Given the description of an element on the screen output the (x, y) to click on. 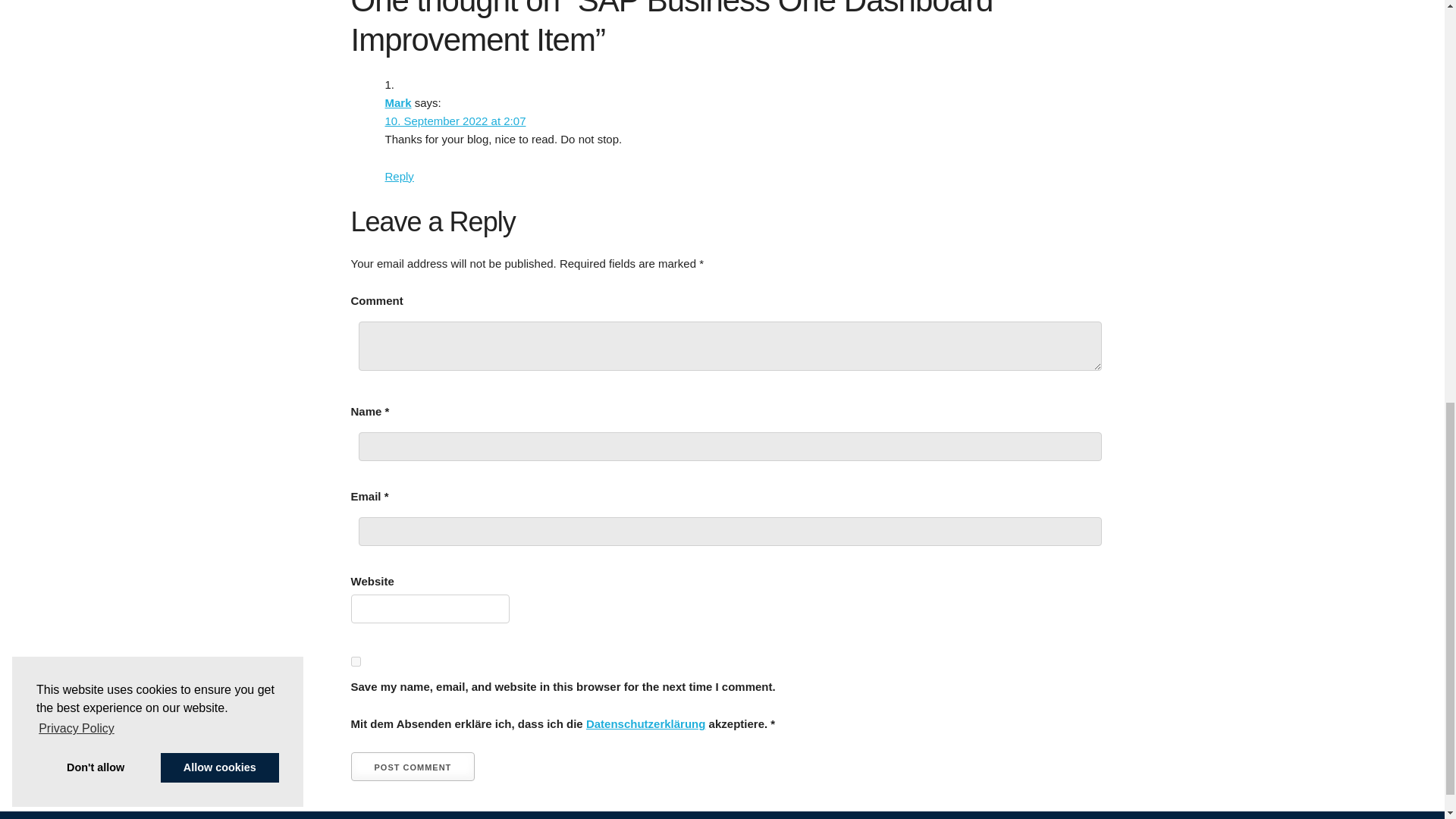
Post Comment (412, 766)
Post Comment (412, 766)
yes (354, 661)
Reply (399, 175)
10. September 2022 at 2:07 (455, 120)
Mark (398, 102)
